Given the description of an element on the screen output the (x, y) to click on. 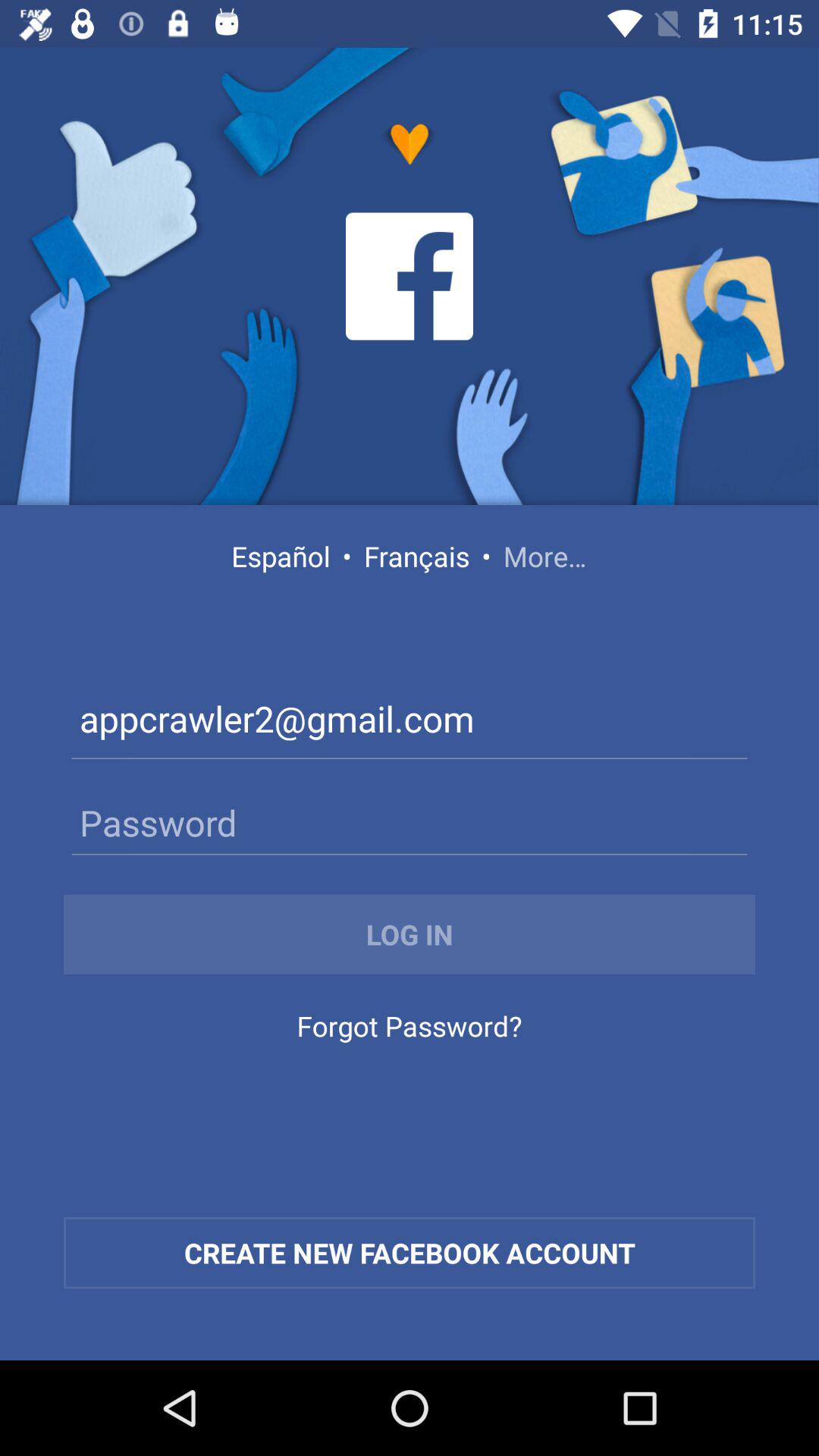
password button to click (409, 822)
